Given the description of an element on the screen output the (x, y) to click on. 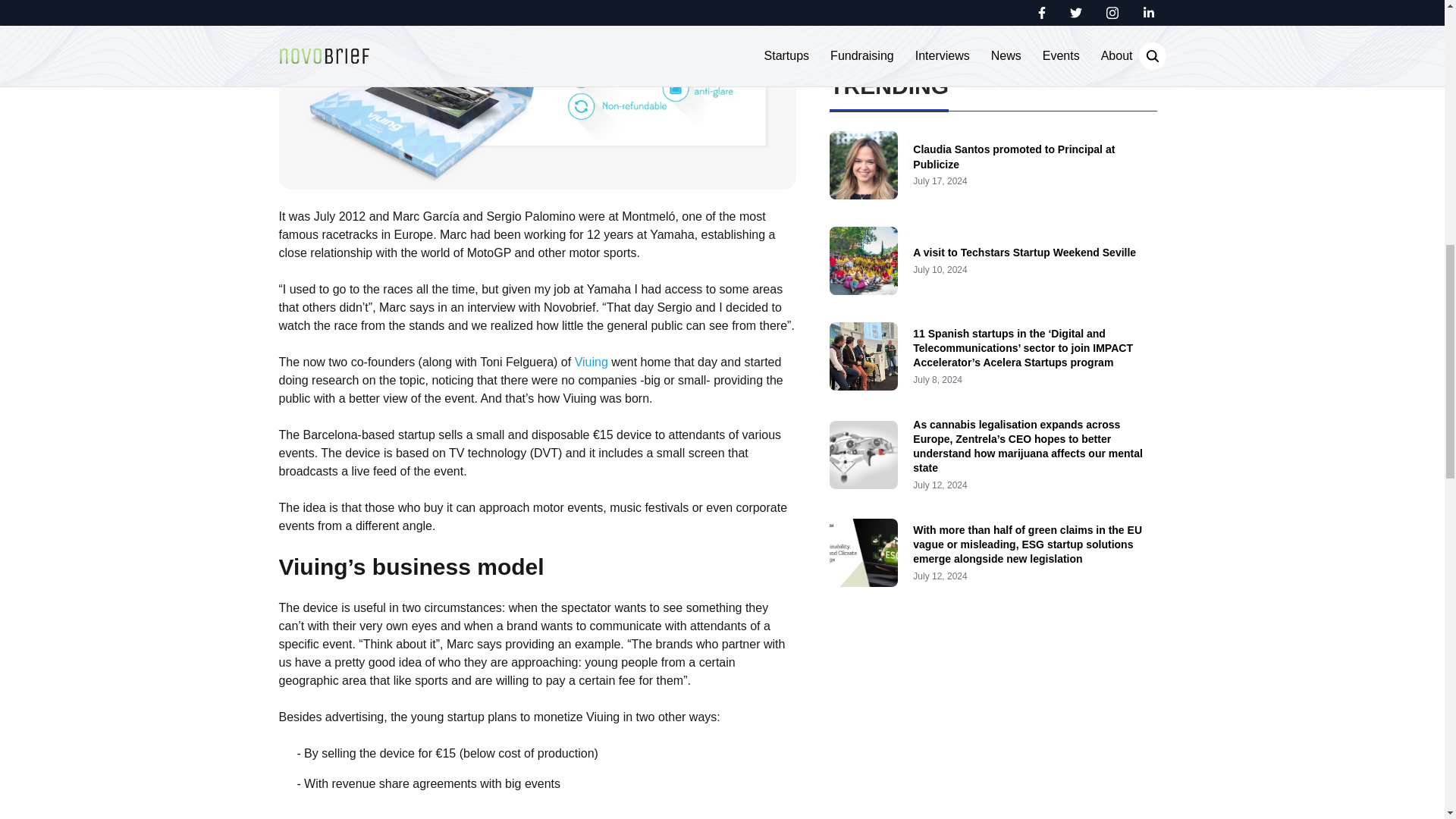
Viuing (591, 361)
